Given the description of an element on the screen output the (x, y) to click on. 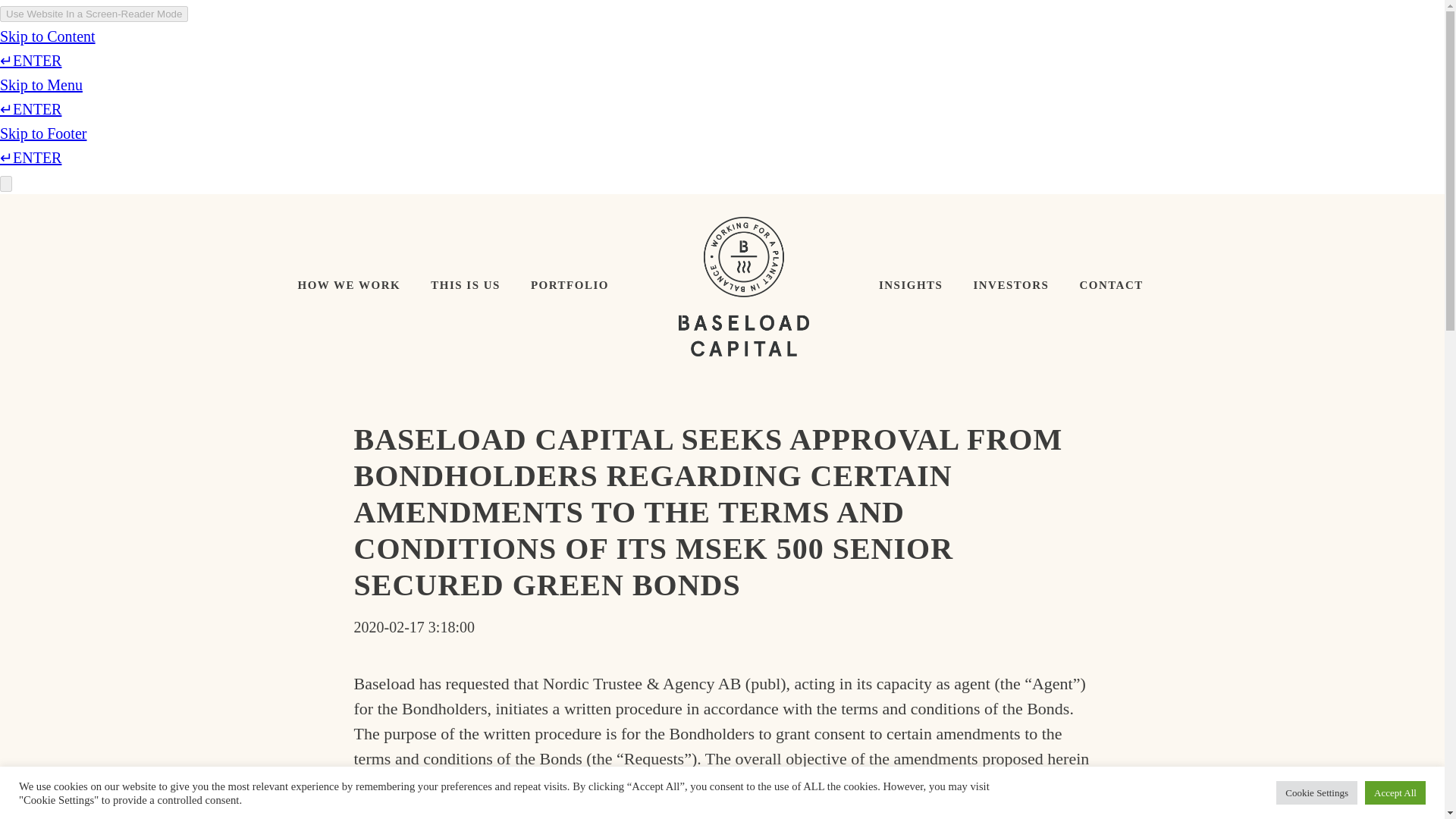
HOW WE WORK (348, 284)
PORTFOLIO (569, 284)
THIS IS US (464, 284)
INSIGHTS (910, 284)
CONTACT (1110, 284)
INVESTORS (1011, 284)
